Given the description of an element on the screen output the (x, y) to click on. 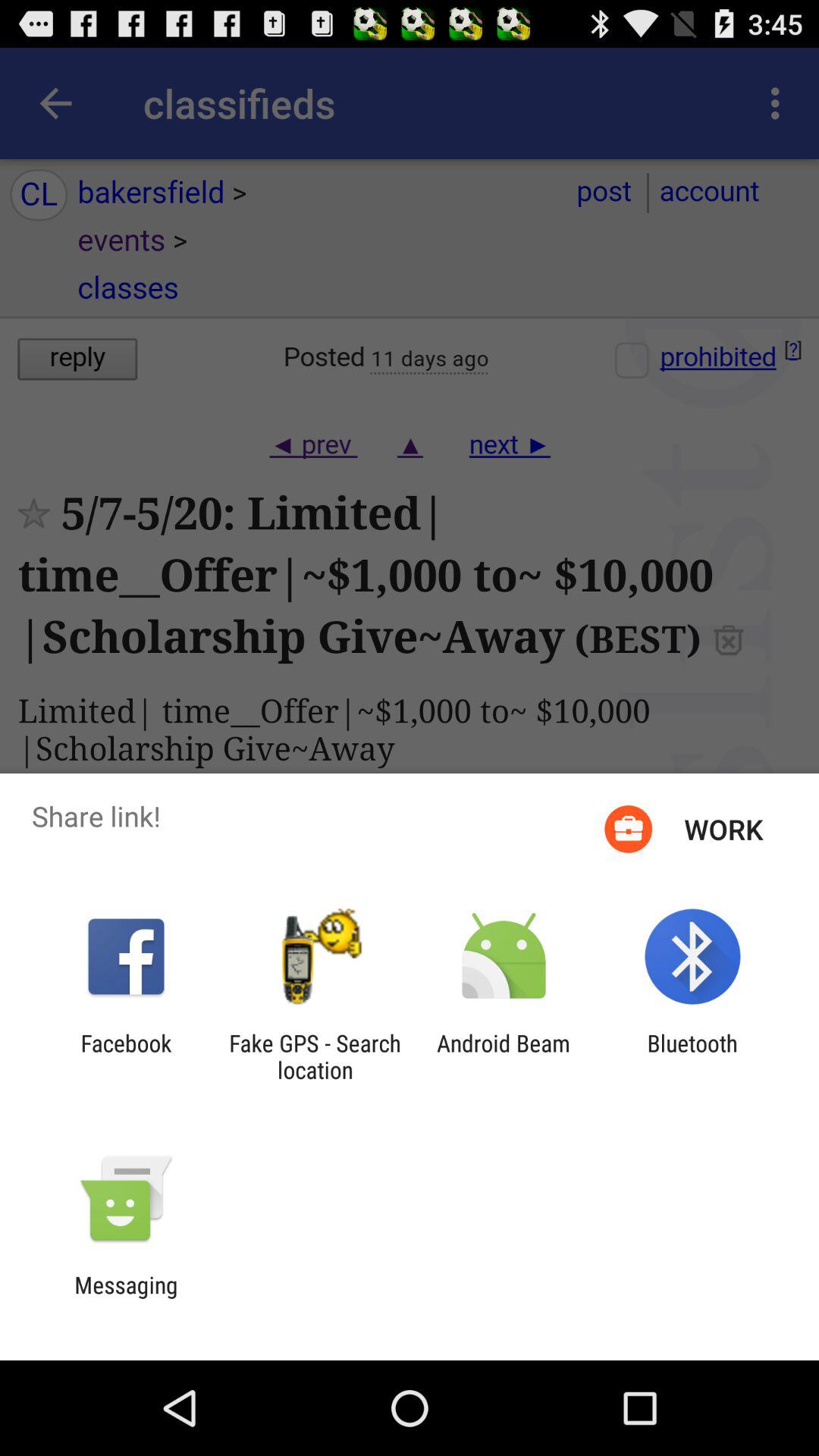
launch the item to the left of the fake gps search icon (125, 1056)
